Given the description of an element on the screen output the (x, y) to click on. 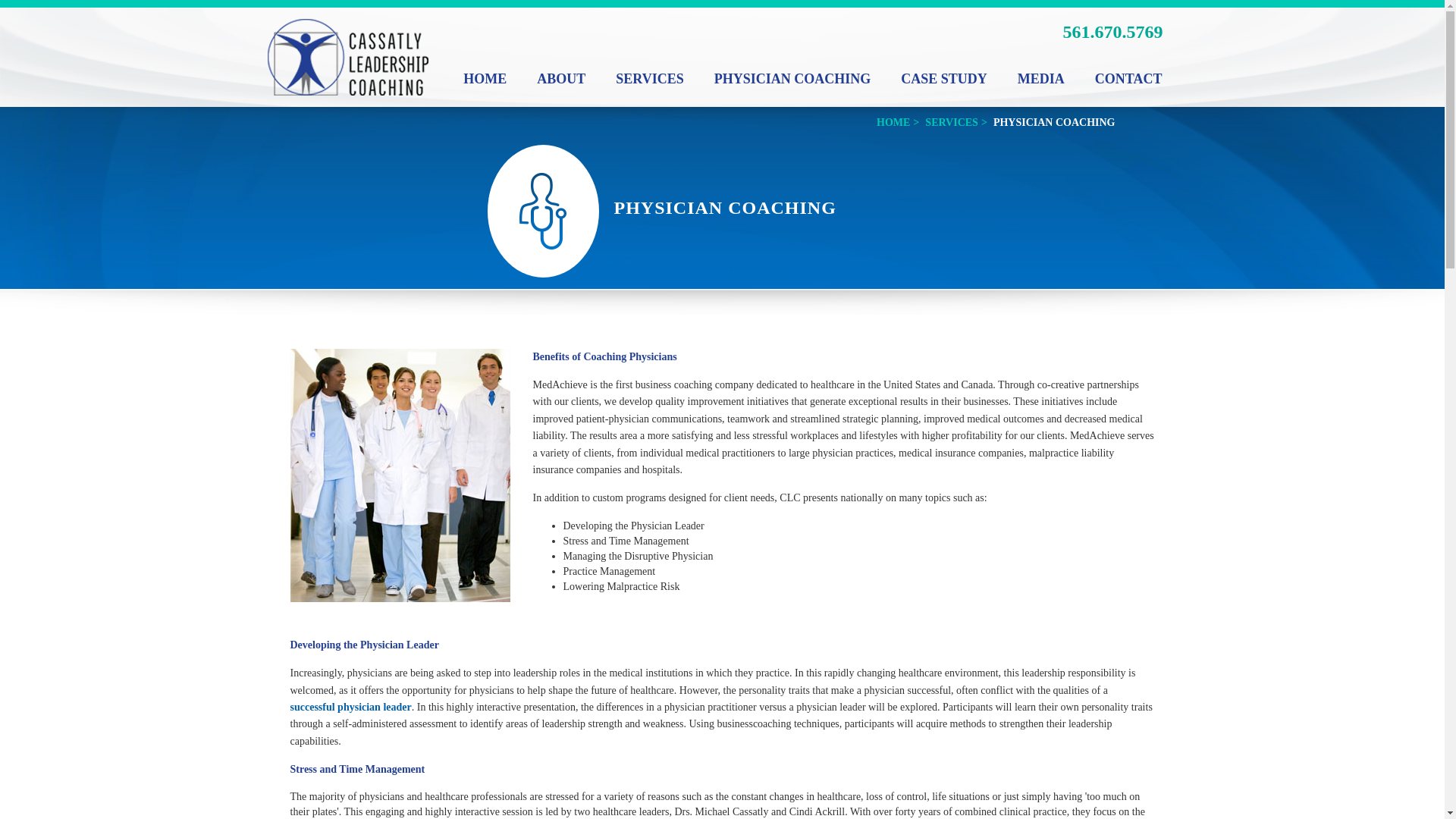
SERVICES (951, 122)
HOME (484, 78)
successful physician leader (349, 706)
CASE STUDY (944, 78)
SERVICES (648, 78)
MEDIA (1041, 78)
PHYSICIAN COACHING (792, 78)
HOME (893, 122)
ABOUT (560, 78)
CONTACT (1128, 78)
